Given the description of an element on the screen output the (x, y) to click on. 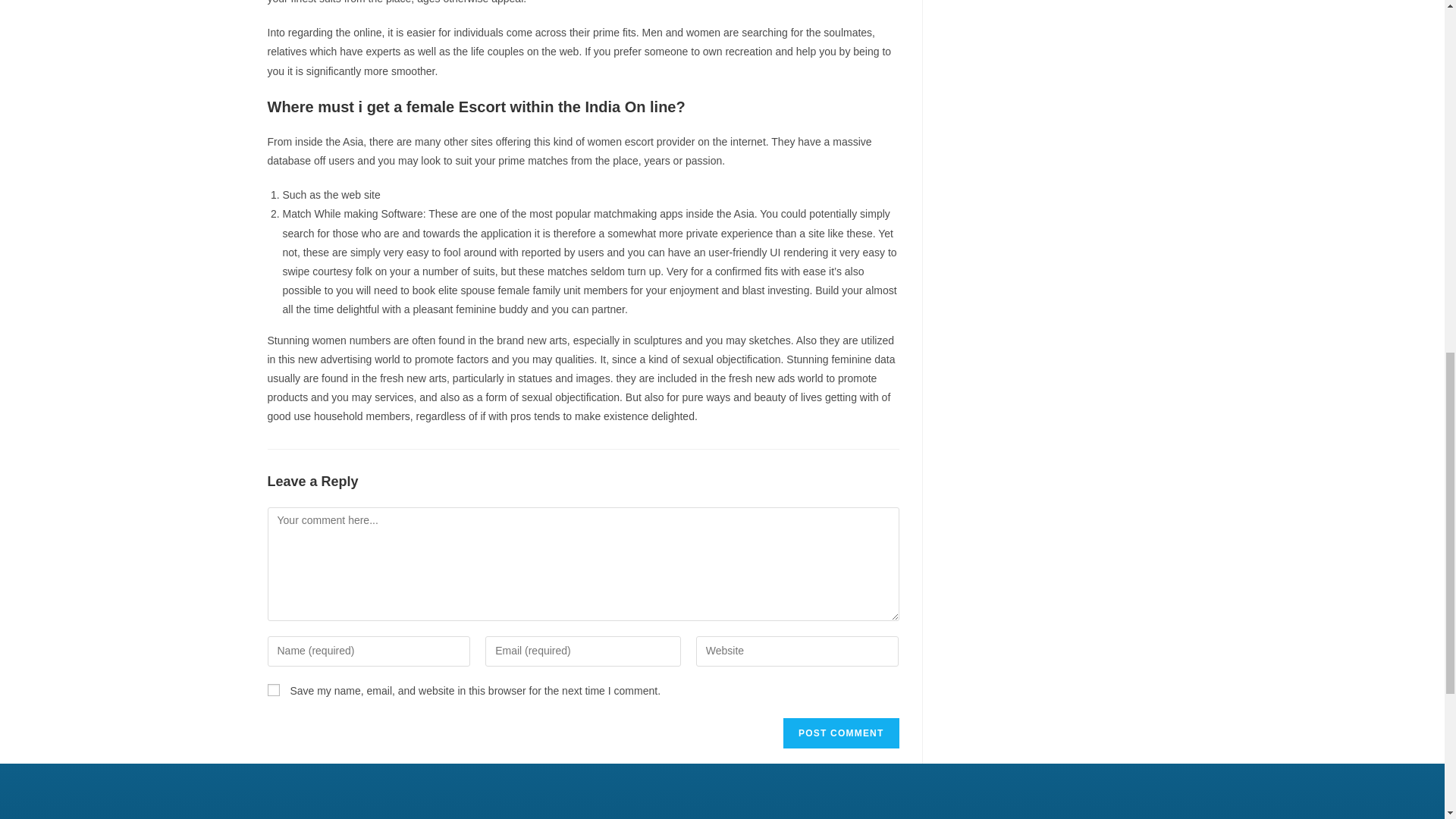
Post Comment (840, 733)
Post Comment (840, 733)
yes (272, 689)
